Given the description of an element on the screen output the (x, y) to click on. 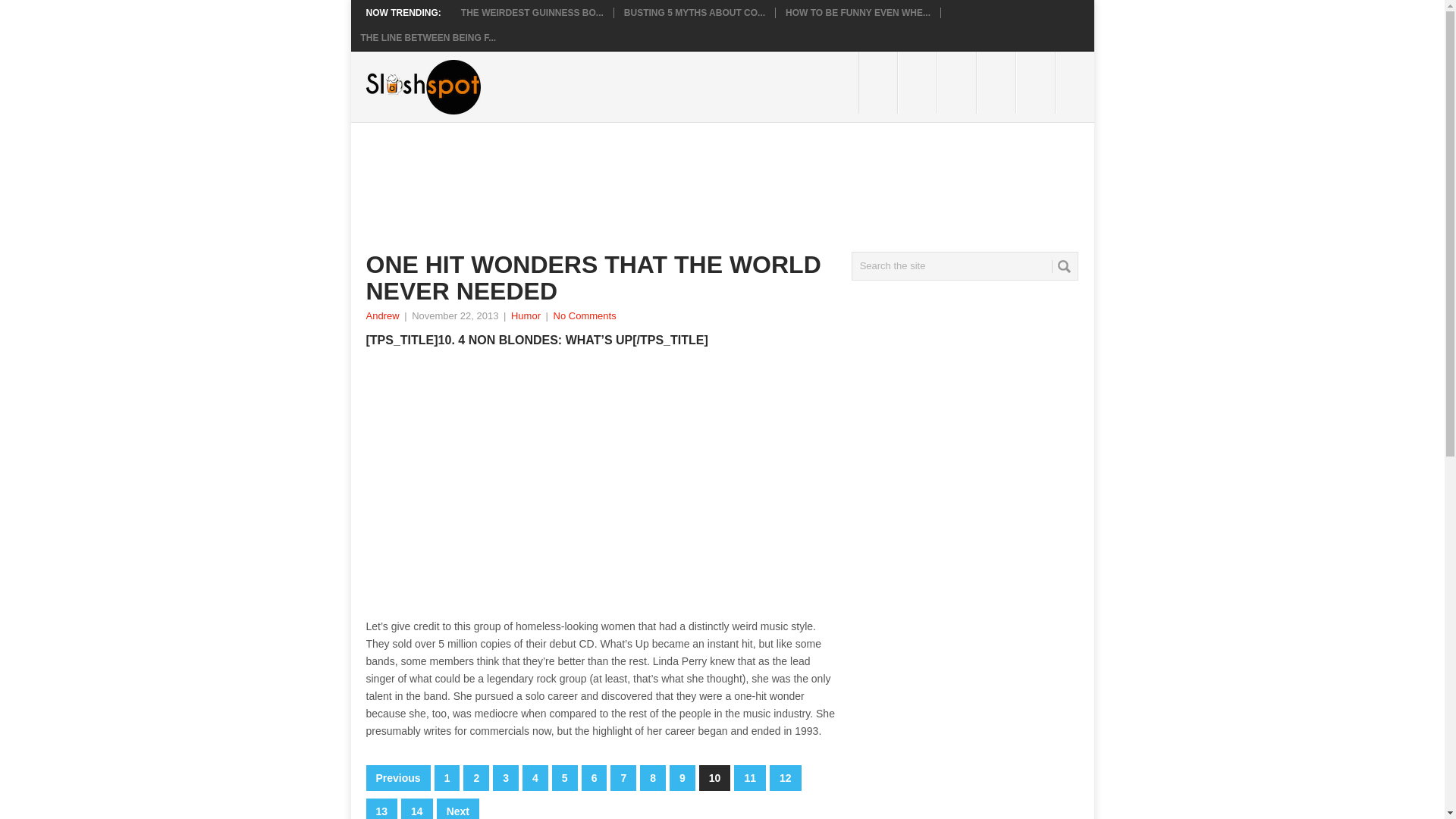
Search (1063, 266)
Previous (397, 777)
Humor (525, 315)
The Line Between Being Funny And Arrogant (428, 37)
Posts by Andrew (381, 315)
Next (457, 808)
7 (623, 777)
12 (786, 777)
The Weirdest Guinness Book Records of the World (532, 12)
9 (682, 777)
